Given the description of an element on the screen output the (x, y) to click on. 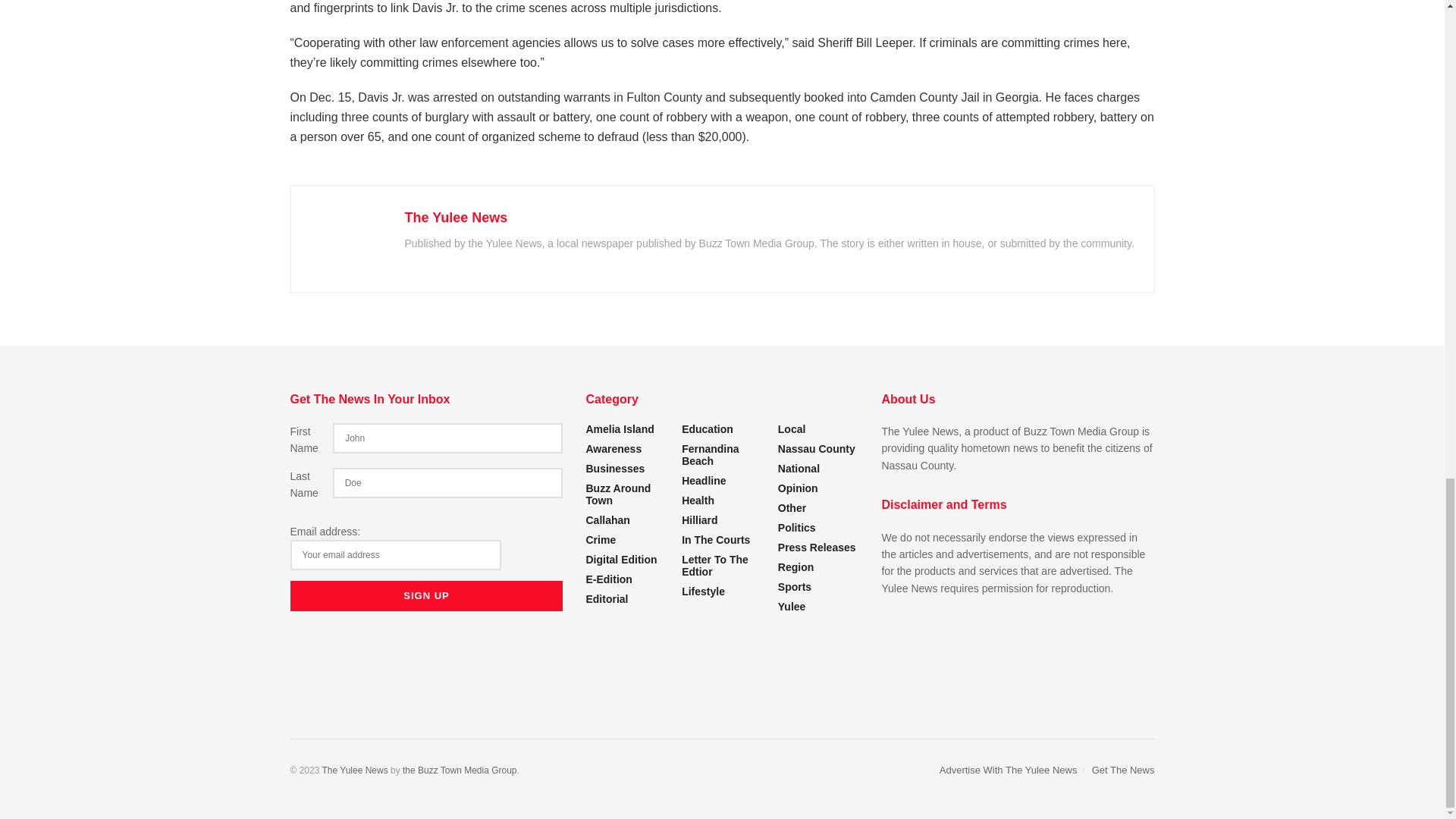
Jegtheme (459, 769)
The Yulee News (354, 769)
Sign up (425, 595)
